Given the description of an element on the screen output the (x, y) to click on. 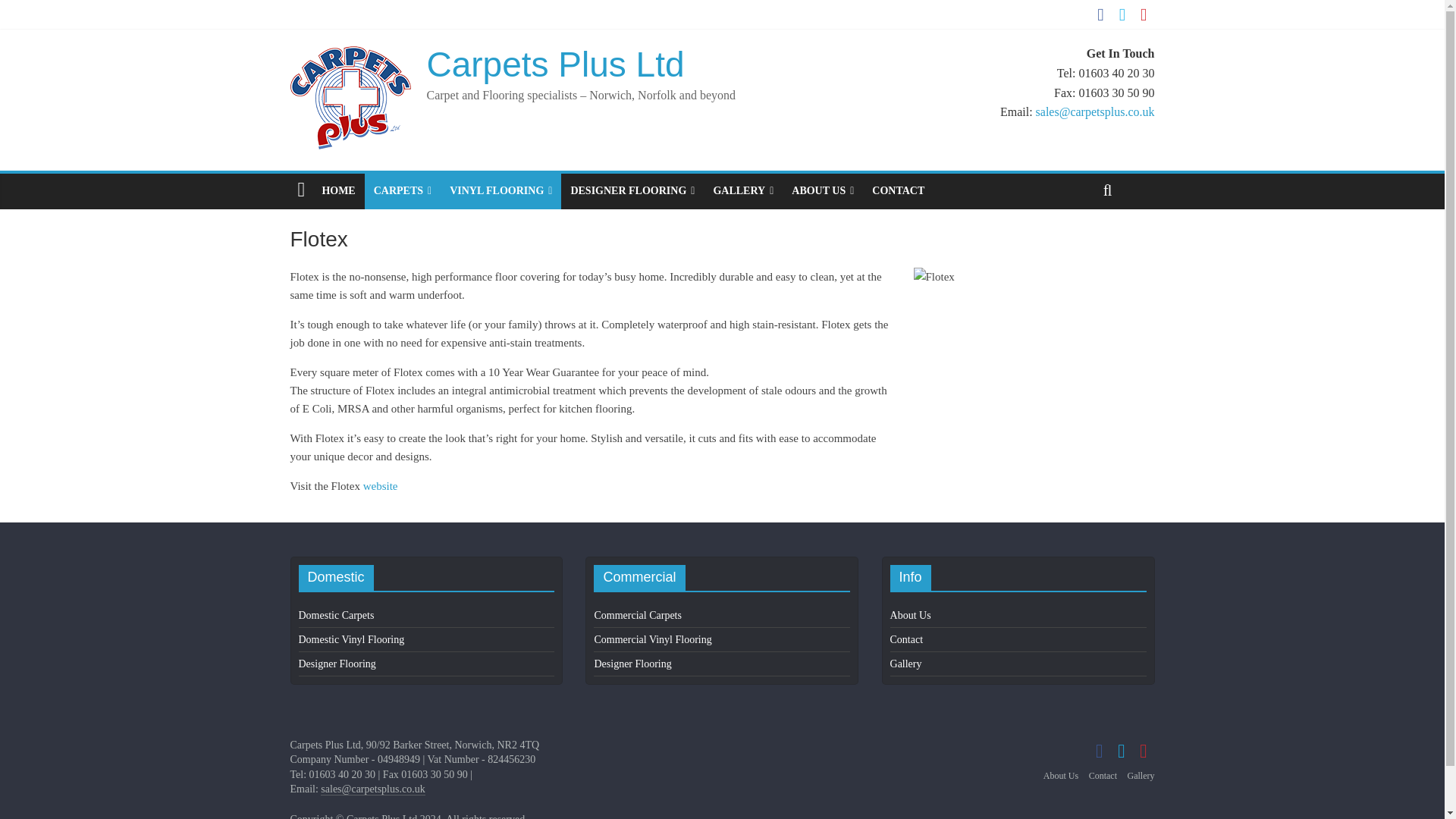
Carpets Plus Ltd (555, 64)
CARPETS (403, 190)
VINYL FLOORING (500, 190)
HOME (338, 190)
Carpets Plus Ltd (555, 64)
